Given the description of an element on the screen output the (x, y) to click on. 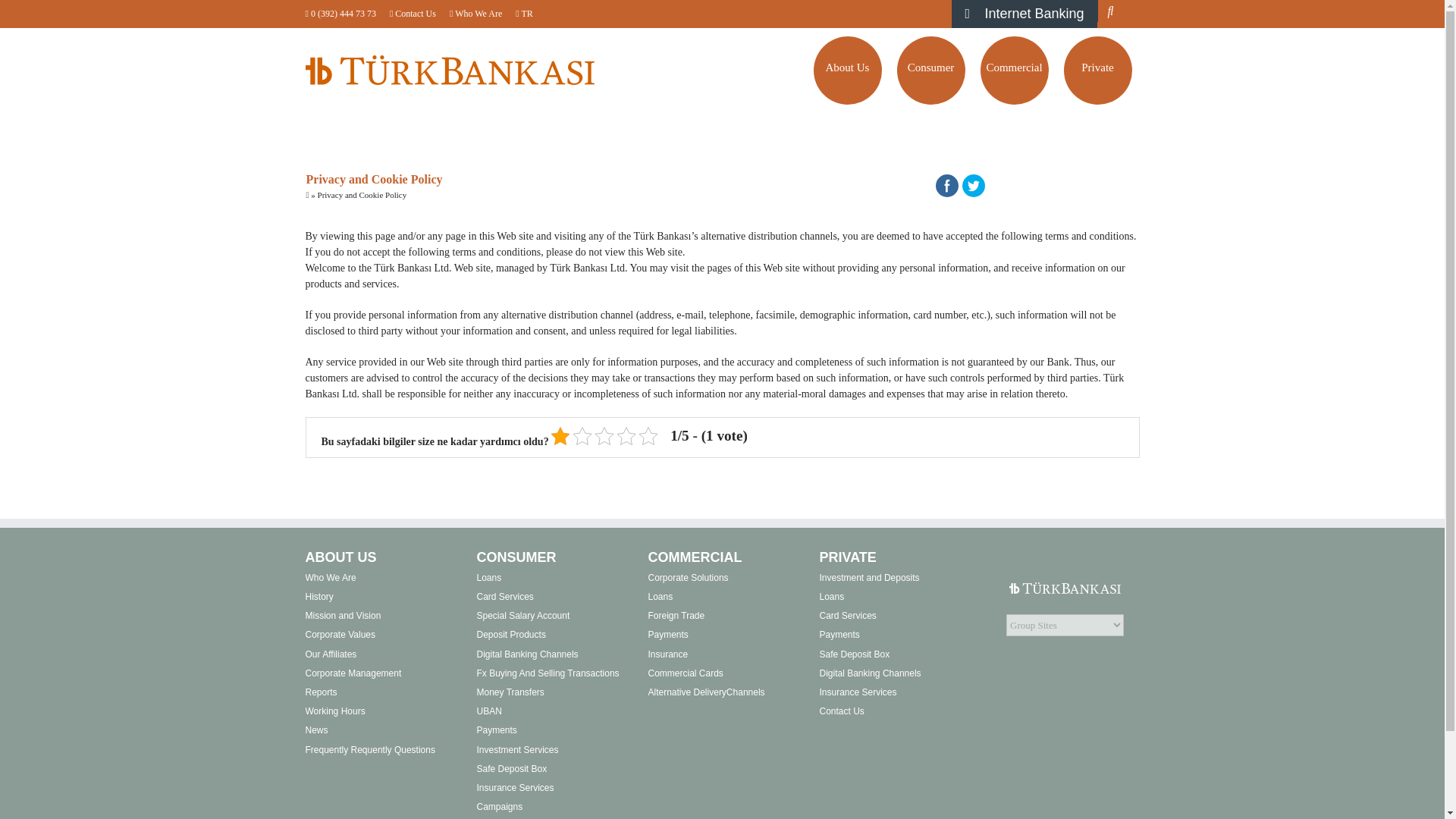
Internet Banking (1024, 14)
Commercial (1014, 67)
Contact Us (412, 13)
TR (523, 13)
Consumer (930, 67)
About Us (846, 67)
Who We Are (475, 13)
